Given the description of an element on the screen output the (x, y) to click on. 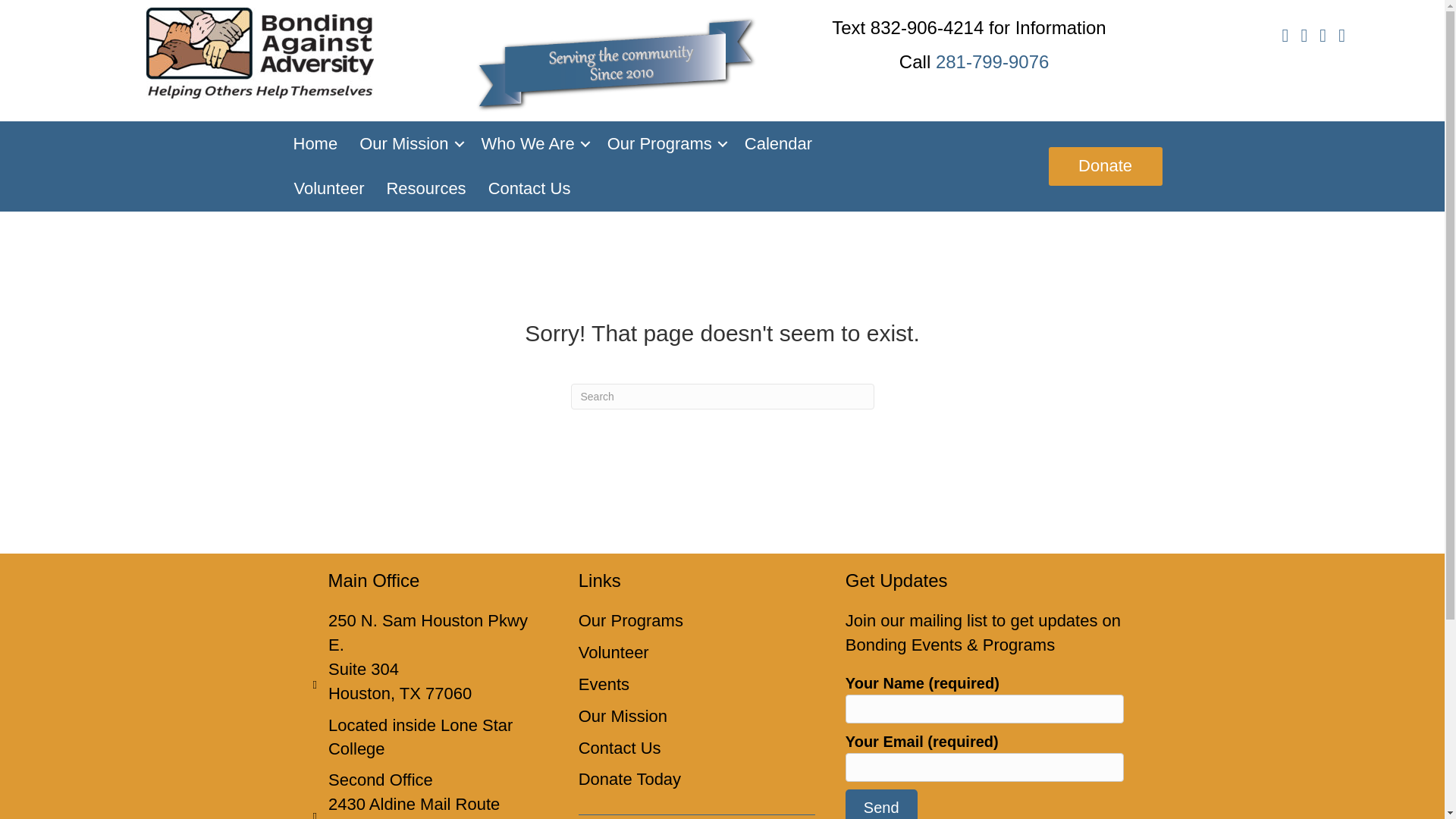
Our Programs (664, 144)
ribbon3 (616, 64)
Contact Us (528, 188)
Our Mission (408, 144)
Home (314, 144)
Donate (1104, 166)
Volunteer (329, 188)
Send (881, 804)
Resources (425, 188)
Type and press Enter to search. (721, 396)
Who We Are (532, 144)
Calendar (777, 144)
